Given the description of an element on the screen output the (x, y) to click on. 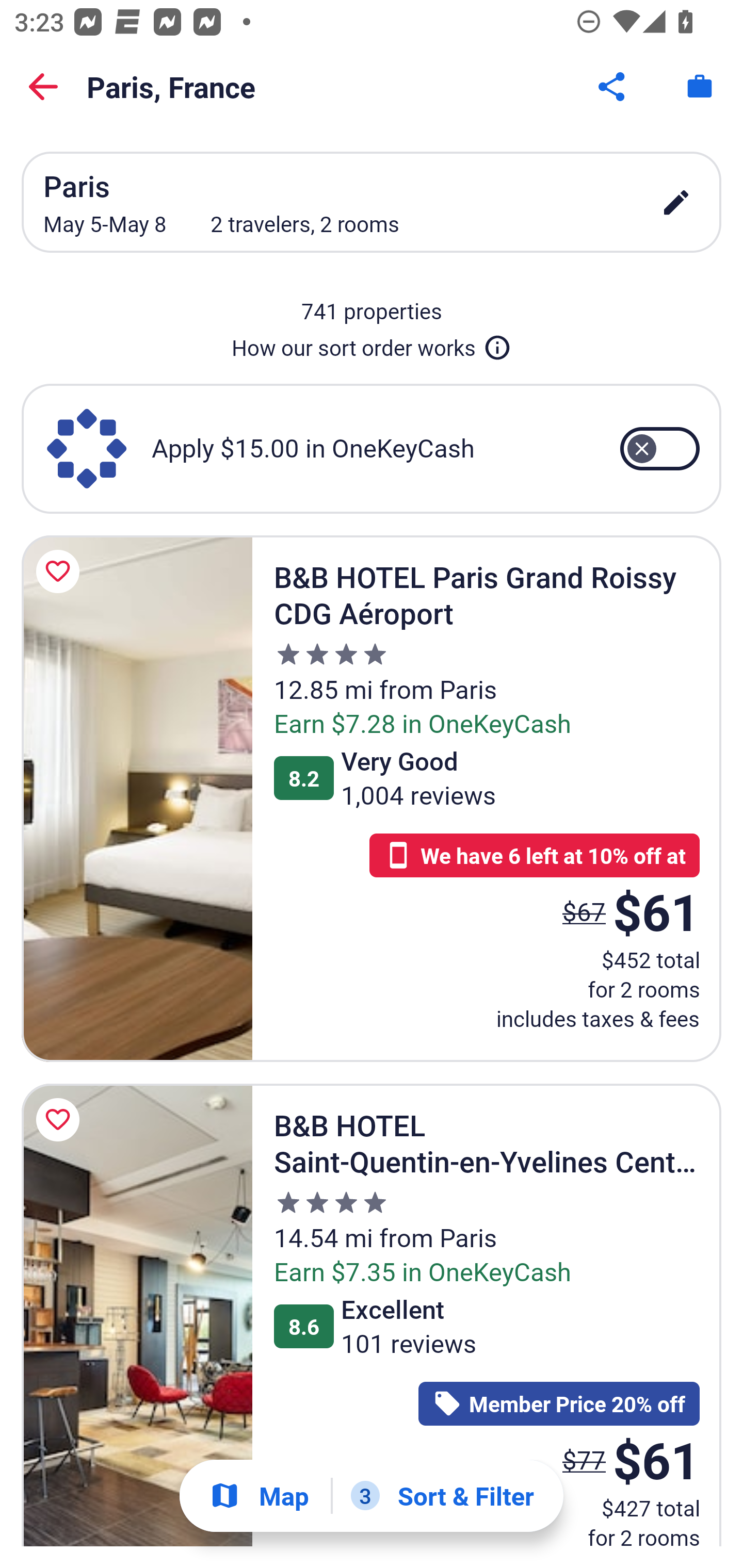
Back (43, 86)
Share Button (612, 86)
Trips. Button (699, 86)
Paris May 5-May 8 2 travelers, 2 rooms edit (371, 202)
How our sort order works (371, 344)
B&B HOTEL Paris Grand Roissy CDG Aéroport (136, 797)
$67 The price was $67 (583, 911)
B&B HOTEL Saint-Quentin-en-Yvelines Centre Gare (136, 1314)
$77 The price was $77 (583, 1459)
3 Sort & Filter 3 Filters applied. Filters Button (442, 1495)
Show map Map Show map Button (258, 1495)
